Given the description of an element on the screen output the (x, y) to click on. 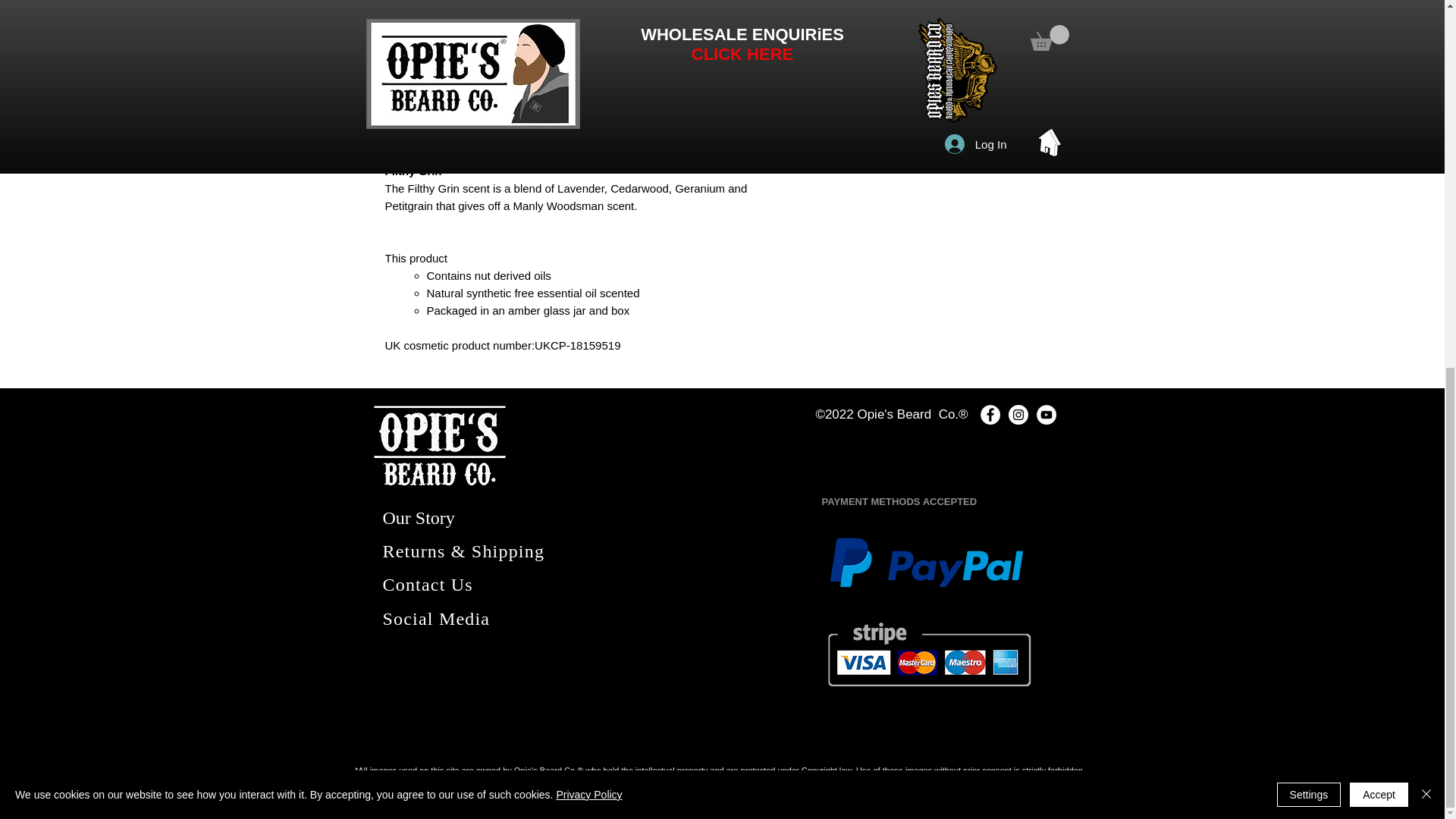
UK00003314934 (833, 778)
Shipping (504, 551)
Accept (1378, 130)
Contact Us (426, 584)
Our Story (417, 517)
Social Media (435, 618)
Returns (415, 551)
Privacy Policy (588, 131)
Settings (1308, 130)
